Given the description of an element on the screen output the (x, y) to click on. 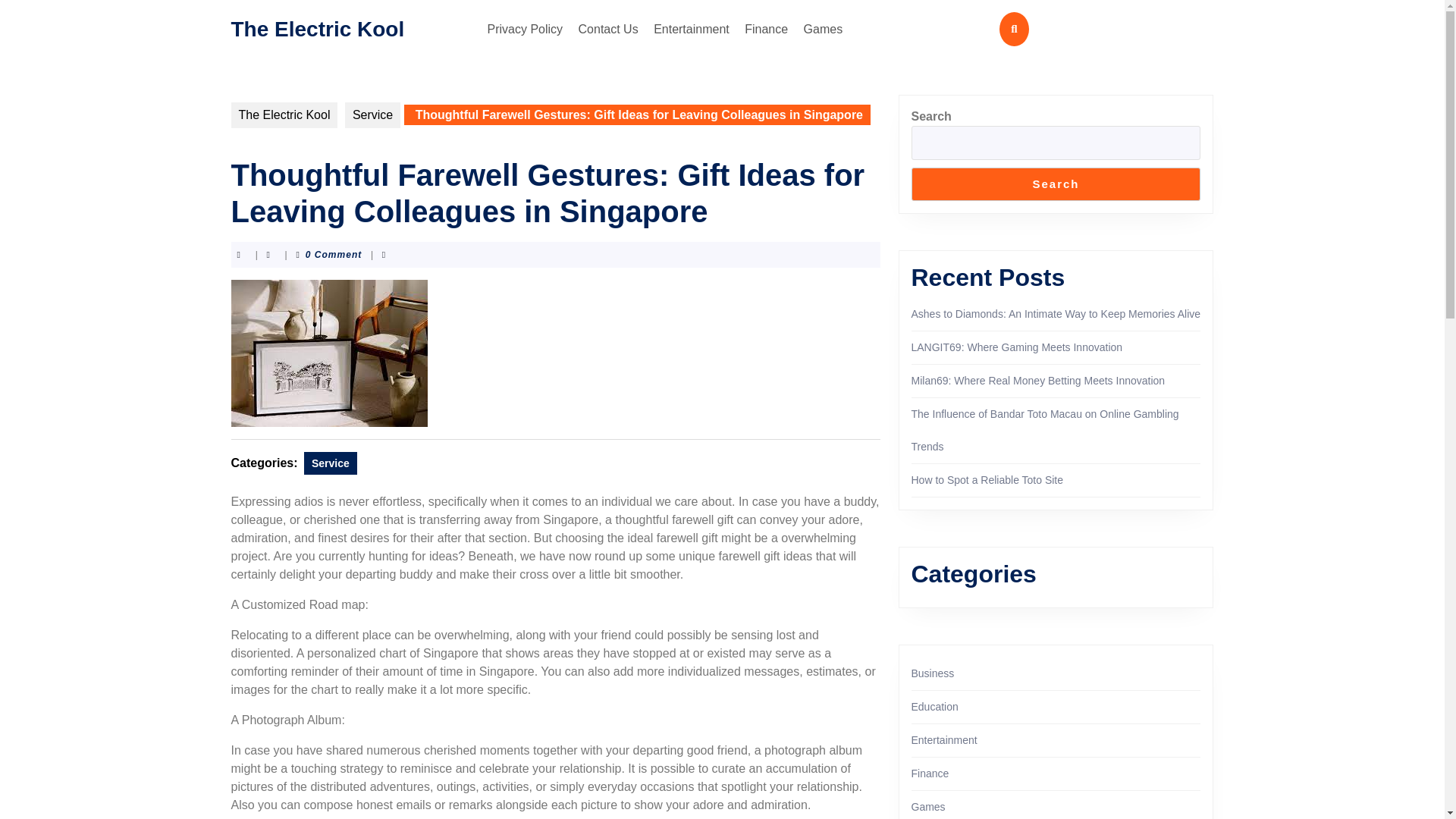
The Electric Kool (317, 28)
LANGIT69: Where Gaming Meets Innovation (1016, 346)
Privacy Policy (524, 28)
Service (372, 114)
Milan69: Where Real Money Betting Meets Innovation (1038, 380)
Search (1056, 183)
Games (822, 28)
Finance (765, 28)
Contact Us (608, 28)
Entertainment (691, 28)
Ashes to Diamonds: An Intimate Way to Keep Memories Alive (1056, 313)
The Electric Kool (283, 114)
Service (330, 463)
